Given the description of an element on the screen output the (x, y) to click on. 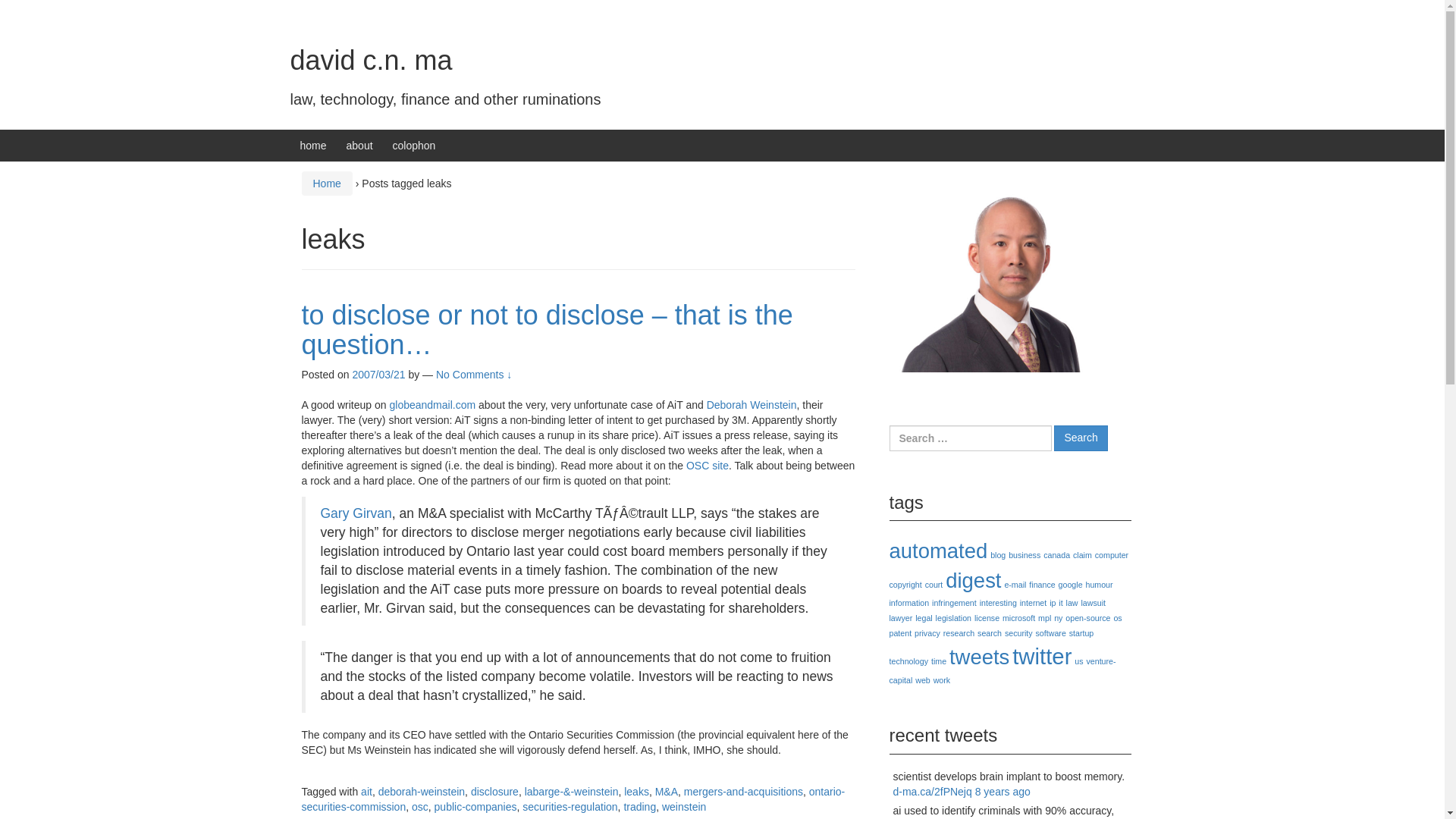
osc (420, 806)
10 topics (1041, 583)
trading (639, 806)
OSC site (707, 465)
Home (326, 183)
securities-regulation (569, 806)
392 topics (972, 580)
colophon (414, 145)
disclosure (494, 791)
11 topics (933, 583)
about (359, 145)
17 topics (904, 583)
ontario-securities-commission (573, 799)
16 topics (1056, 554)
Deborah Weinstein (751, 404)
